Given the description of an element on the screen output the (x, y) to click on. 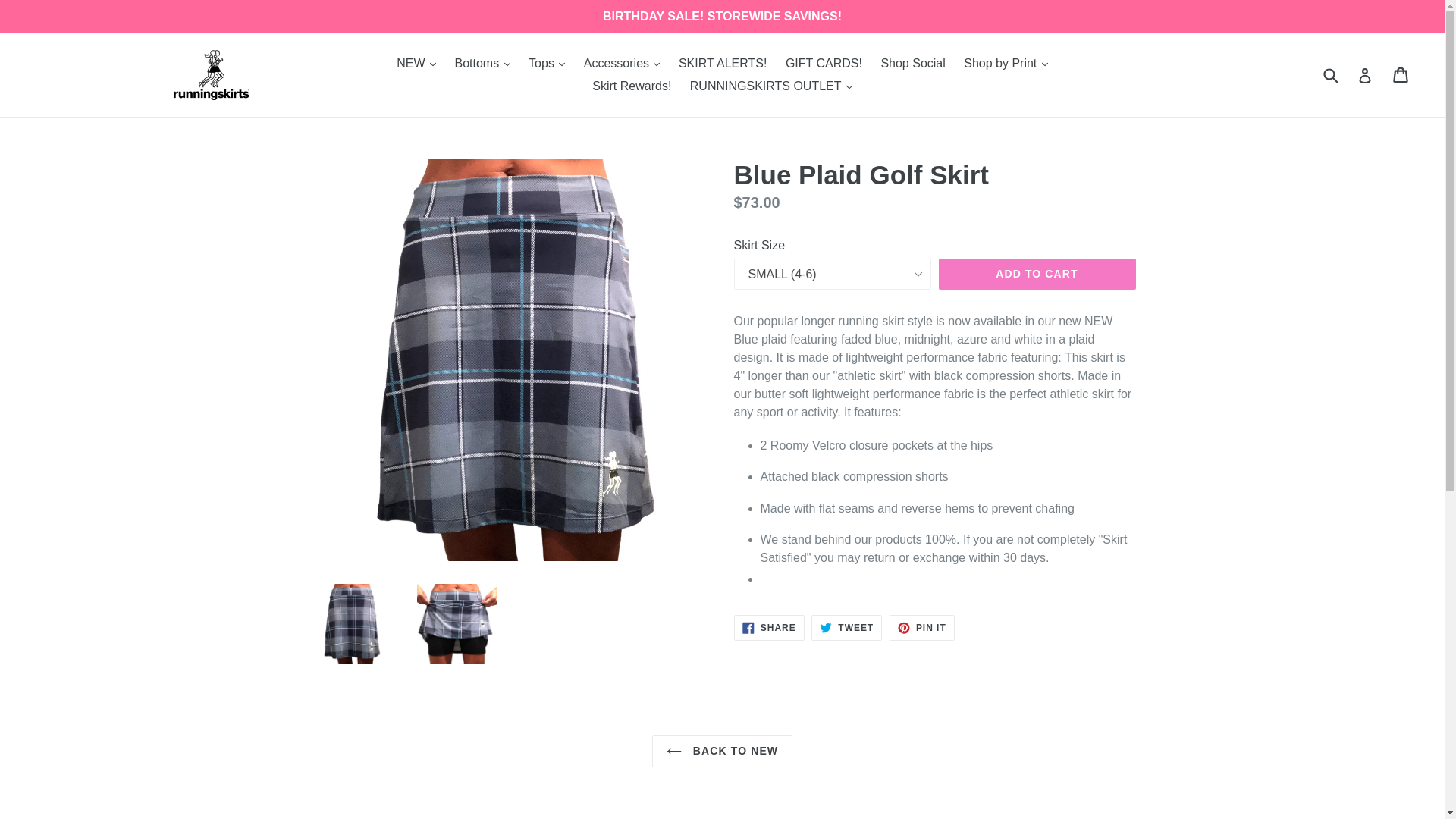
Pin on Pinterest (922, 627)
Share on Facebook (769, 627)
Tweet on Twitter (846, 627)
